Given the description of an element on the screen output the (x, y) to click on. 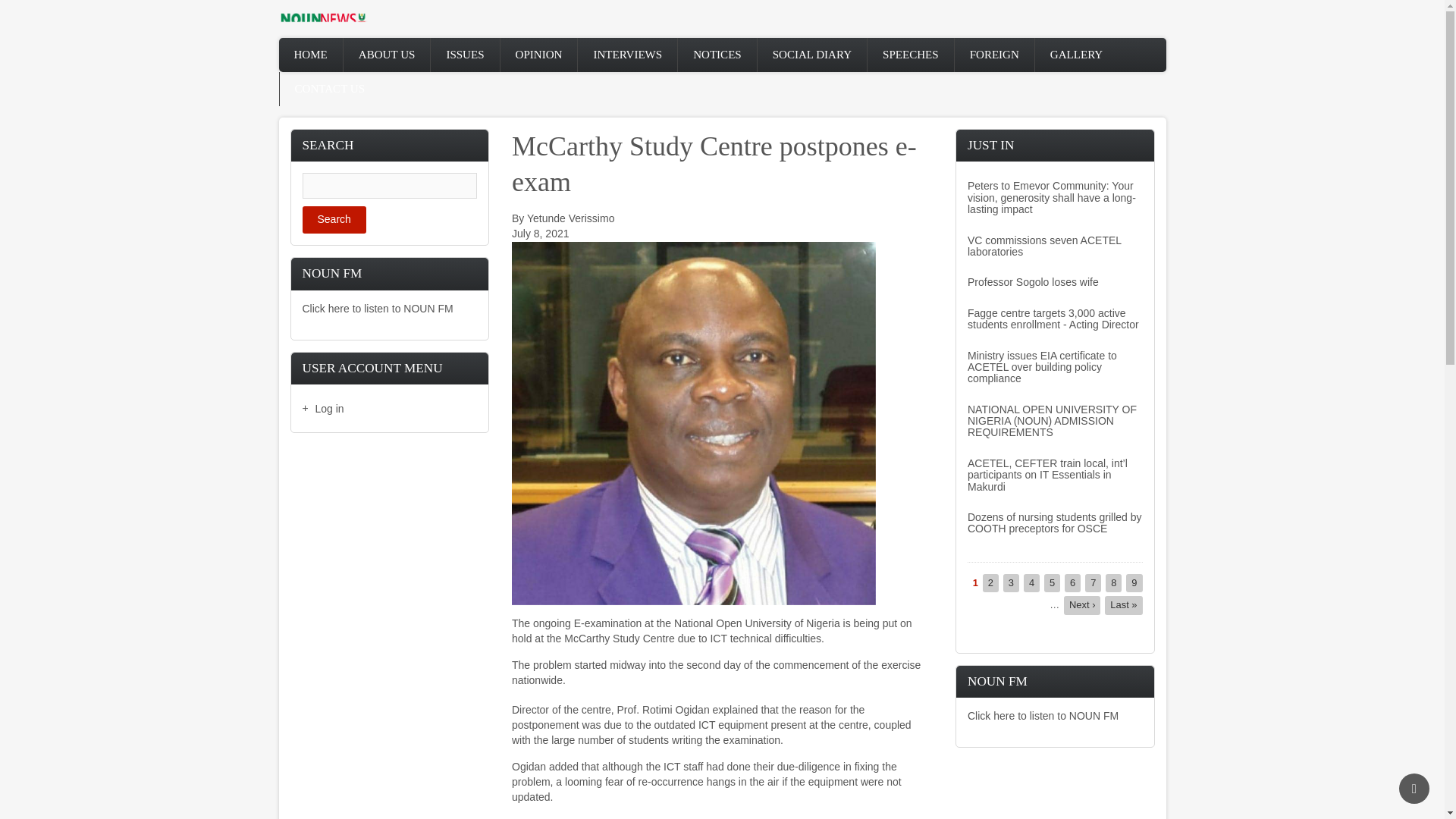
Go to next page (1082, 605)
Go to last page (1123, 605)
Log in (389, 409)
NOTICES (717, 54)
VC commissions seven ACETEL laboratories (1044, 245)
Click here to listen to NOUN FM (376, 308)
Enter the terms you wish to search for. (389, 185)
GALLERY (1076, 54)
